Given the description of an element on the screen output the (x, y) to click on. 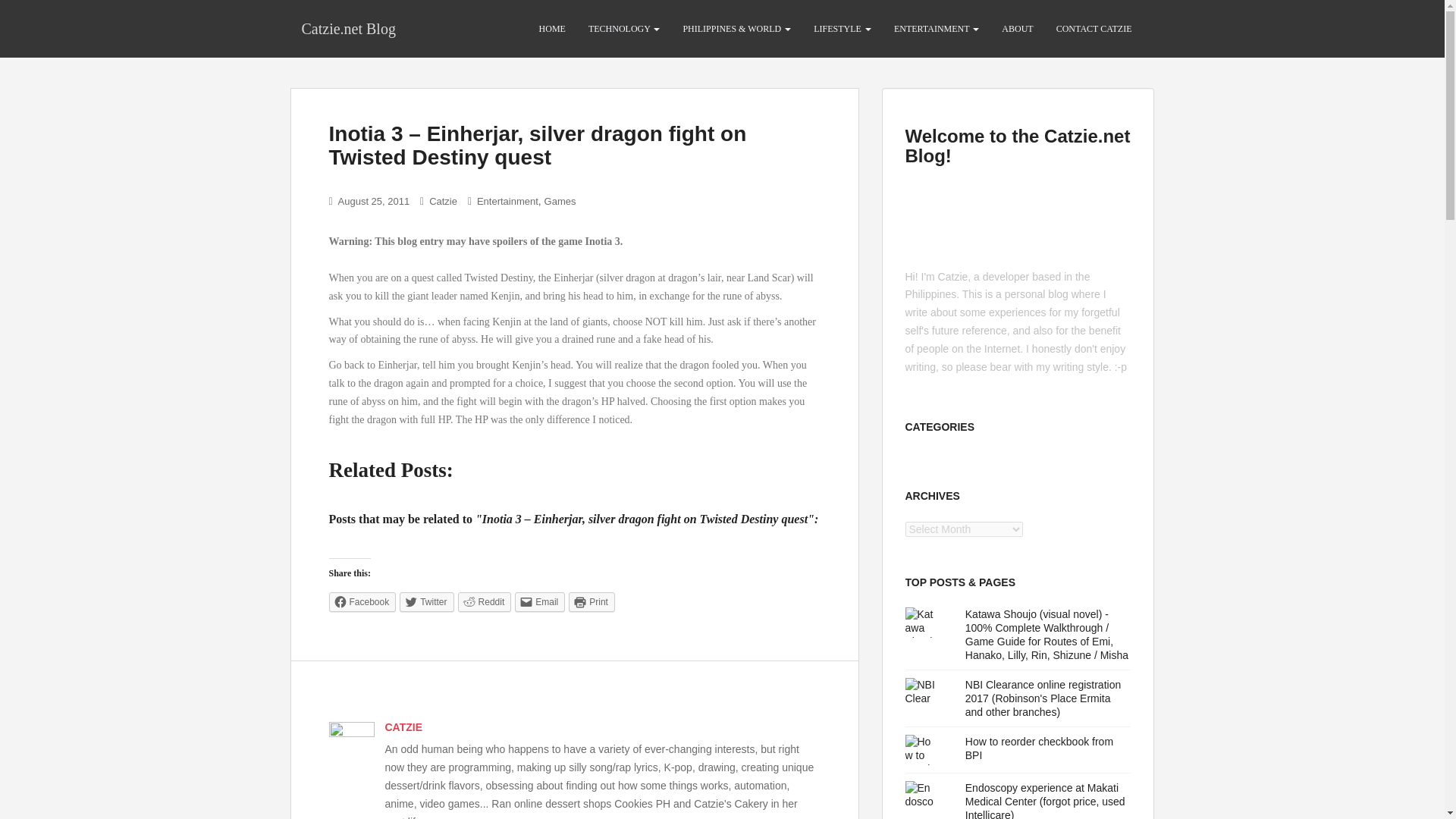
Twitter (425, 601)
August 25, 2011 (373, 201)
Catzie.net Blog (347, 28)
Catzie (443, 201)
LIFESTYLE (842, 28)
Facebook (362, 601)
TECHNOLOGY (623, 28)
Email (539, 601)
CONTACT CATZIE (1093, 28)
ABOUT (1016, 28)
